Given the description of an element on the screen output the (x, y) to click on. 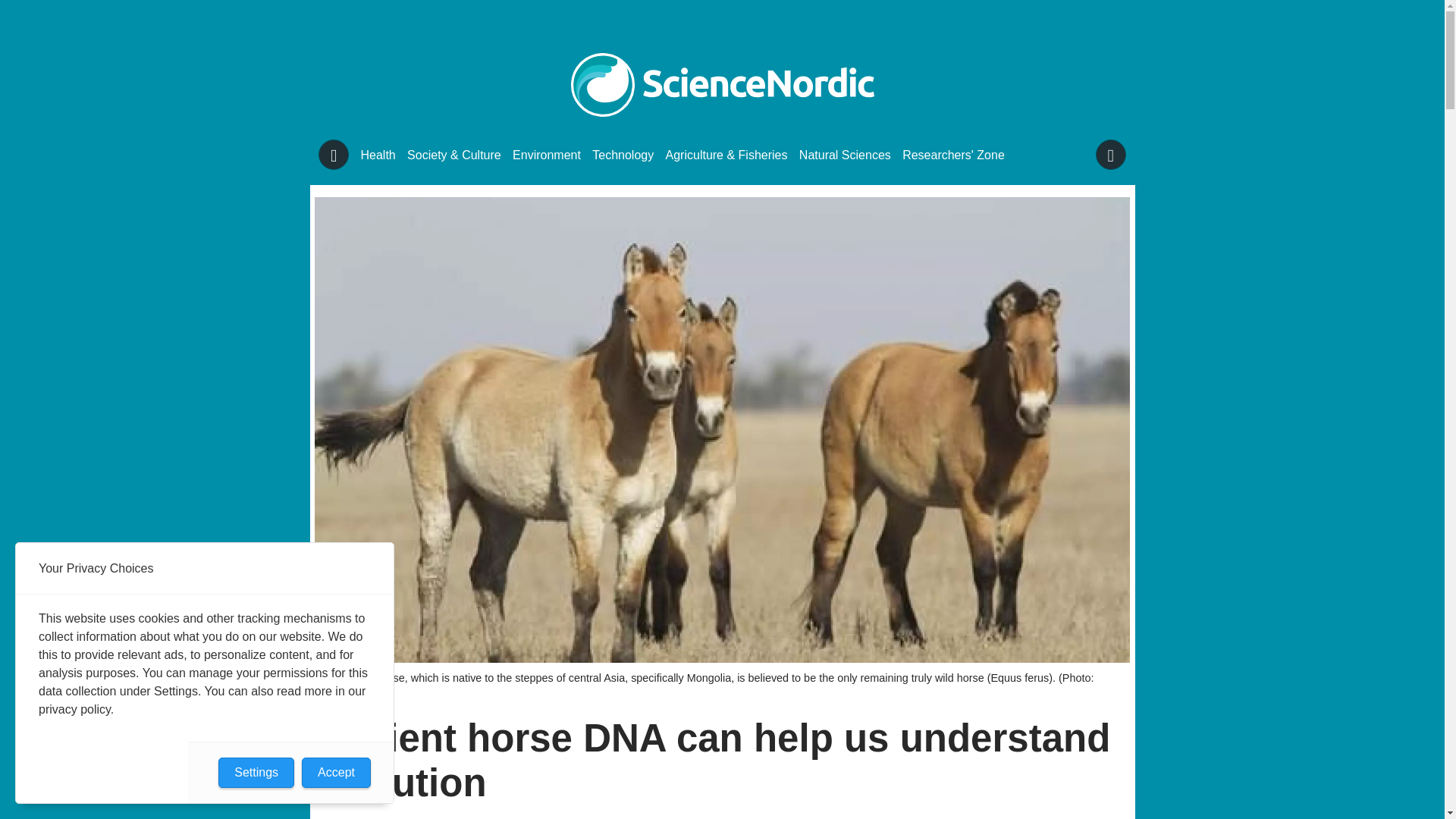
Researchers' Zone (953, 154)
Environment (546, 154)
Natural Sciences (845, 154)
Technology (622, 154)
Health (378, 154)
